Given the description of an element on the screen output the (x, y) to click on. 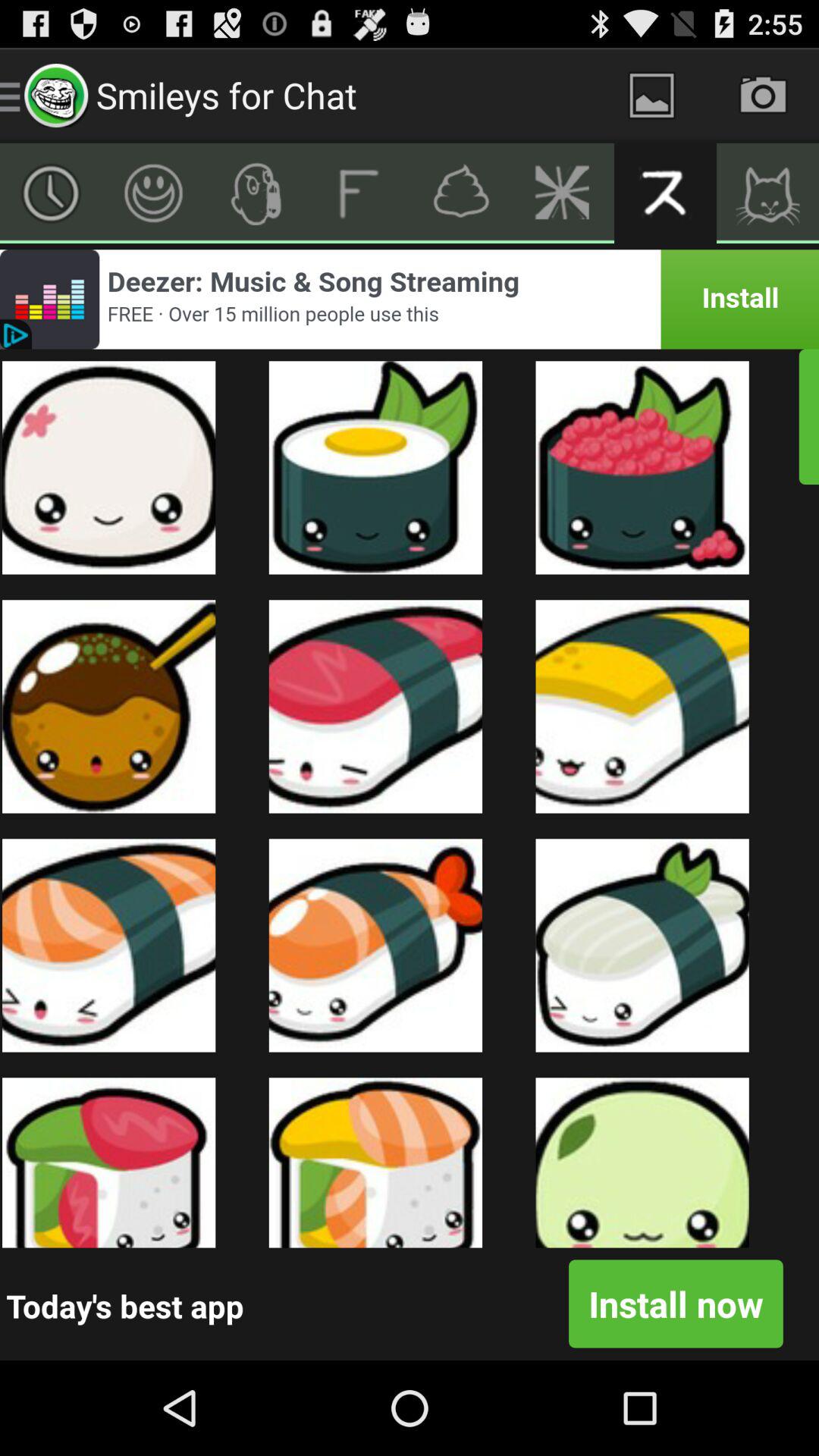
choose clock option (51, 193)
